Given the description of an element on the screen output the (x, y) to click on. 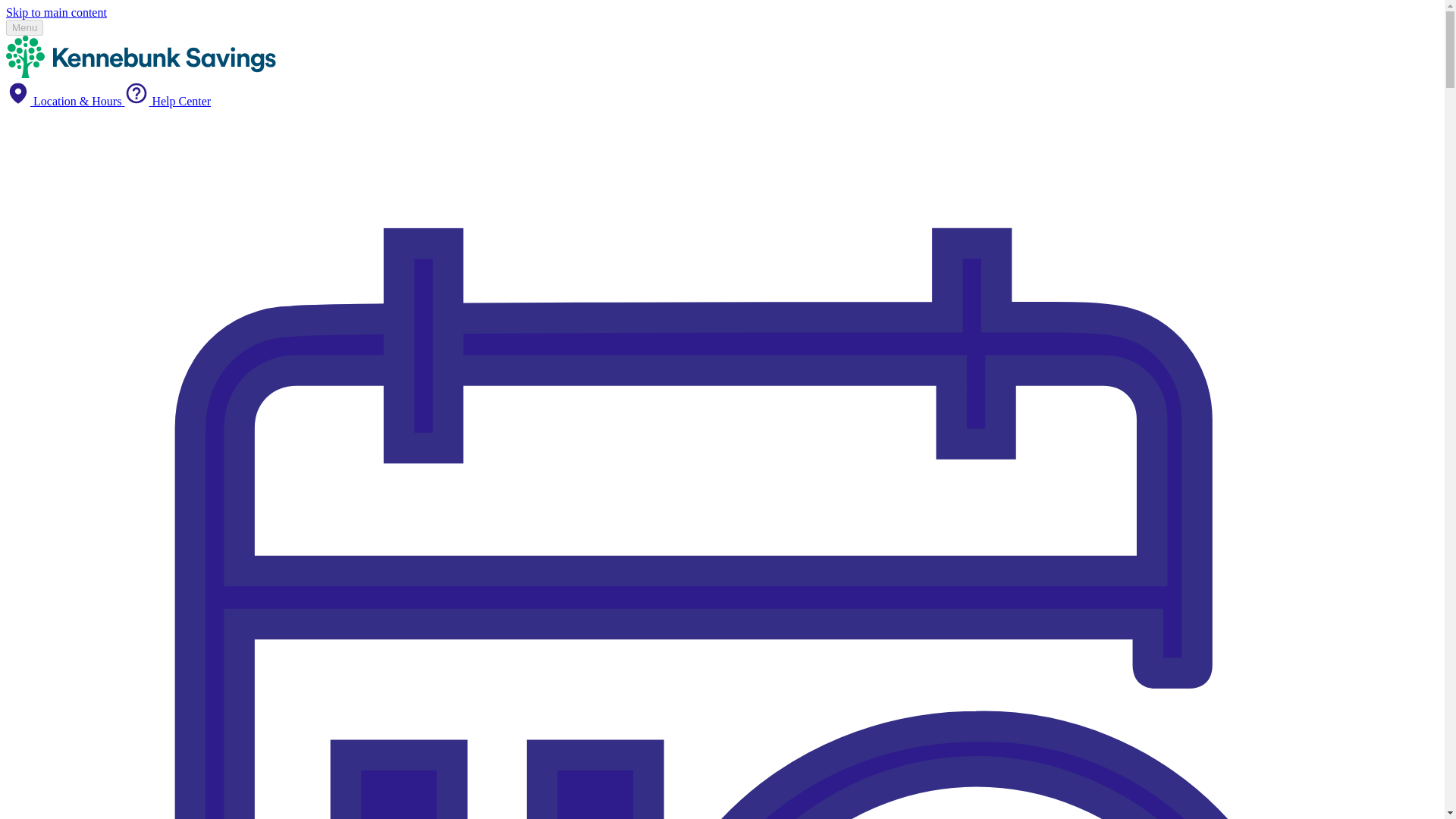
Help Center (167, 101)
Menu (24, 27)
Skip to main content (55, 11)
